Given the description of an element on the screen output the (x, y) to click on. 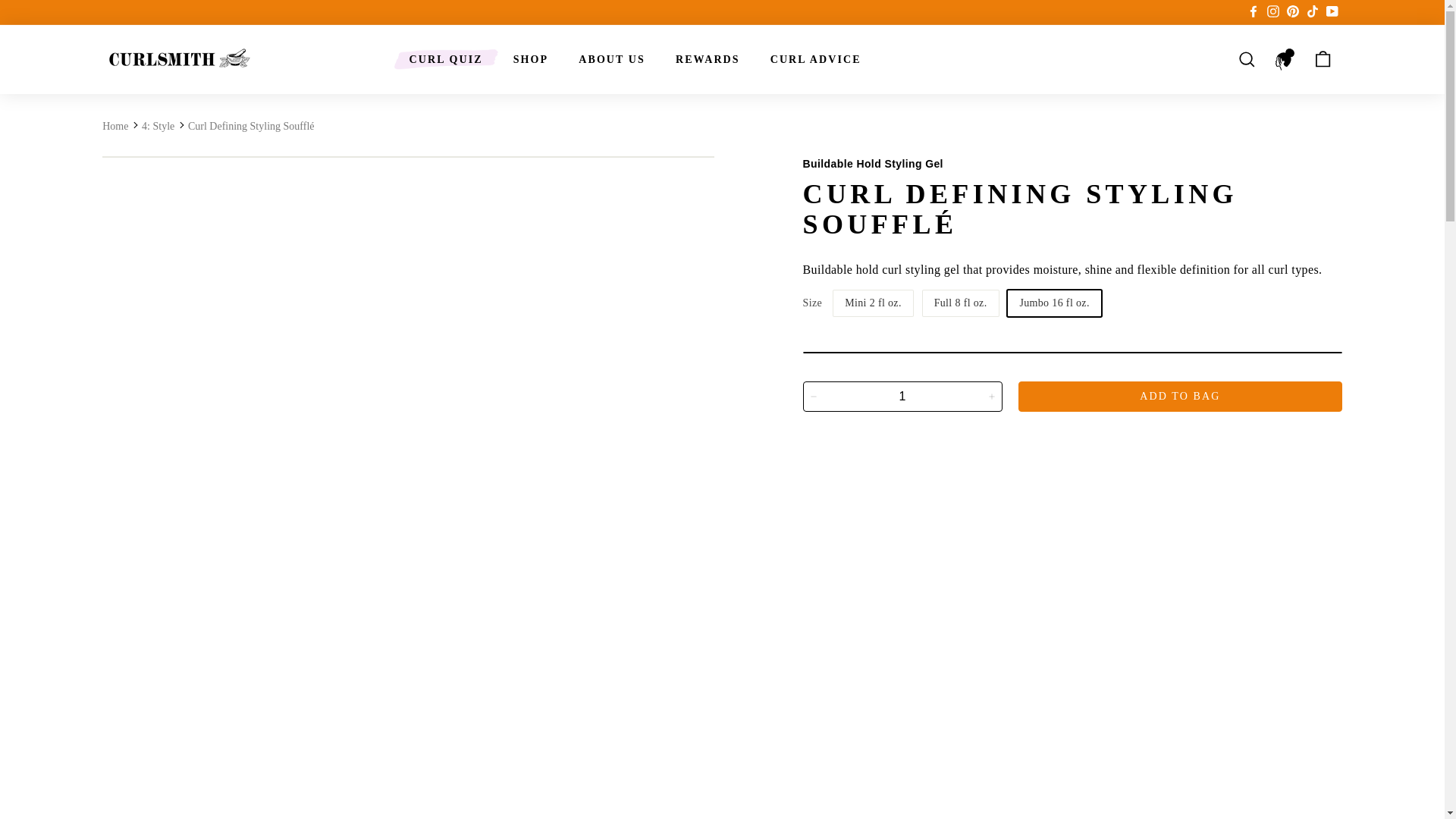
1 (901, 396)
